Given the description of an element on the screen output the (x, y) to click on. 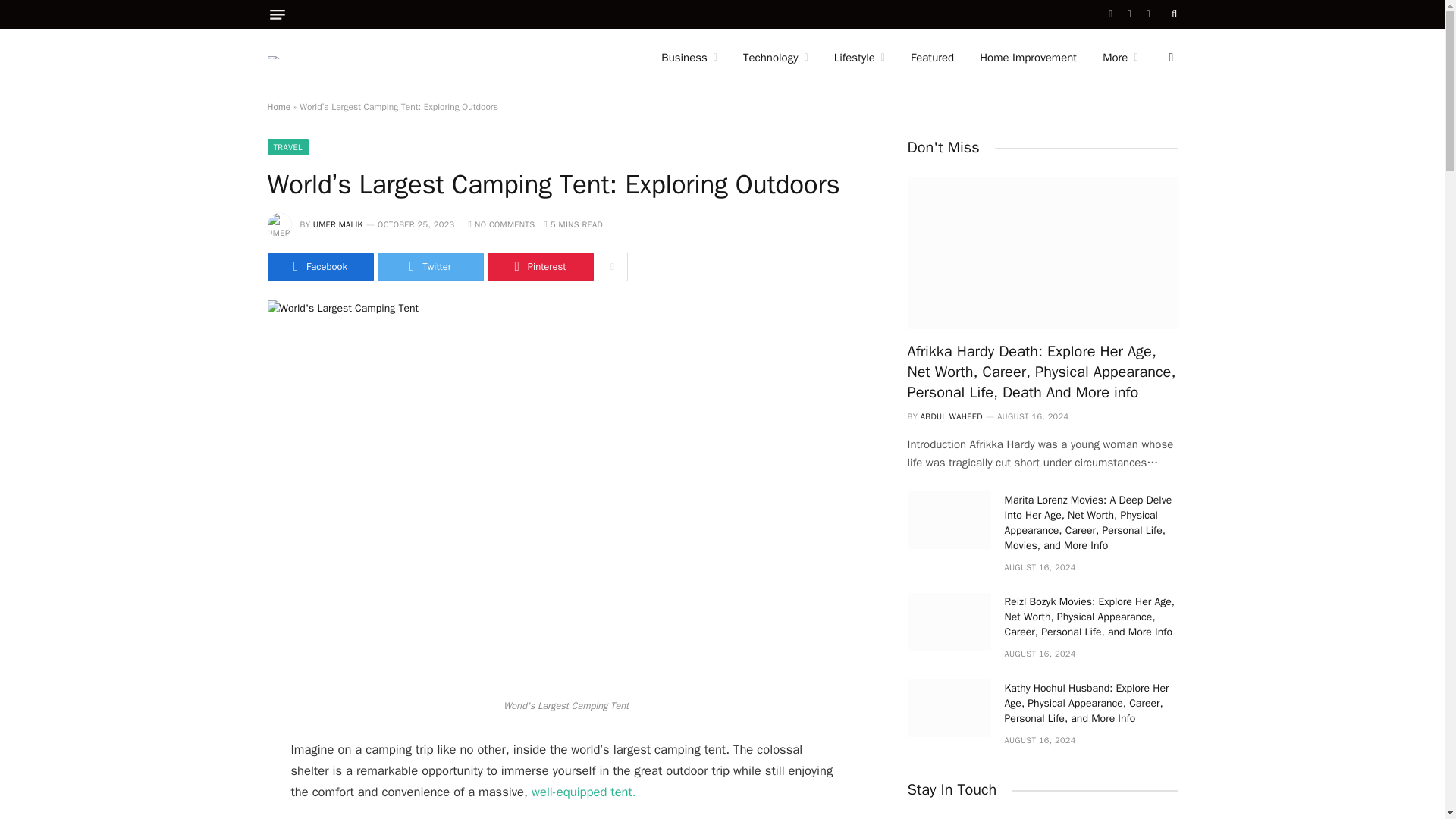
Share on Pinterest (539, 266)
Lifestyle (859, 57)
Technology (775, 57)
Share on Facebook (319, 266)
Posts by Umer Malik (337, 224)
More (1119, 57)
Show More Social Sharing (611, 266)
Featured (932, 57)
Home Improvement (1027, 57)
Business (688, 57)
